Given the description of an element on the screen output the (x, y) to click on. 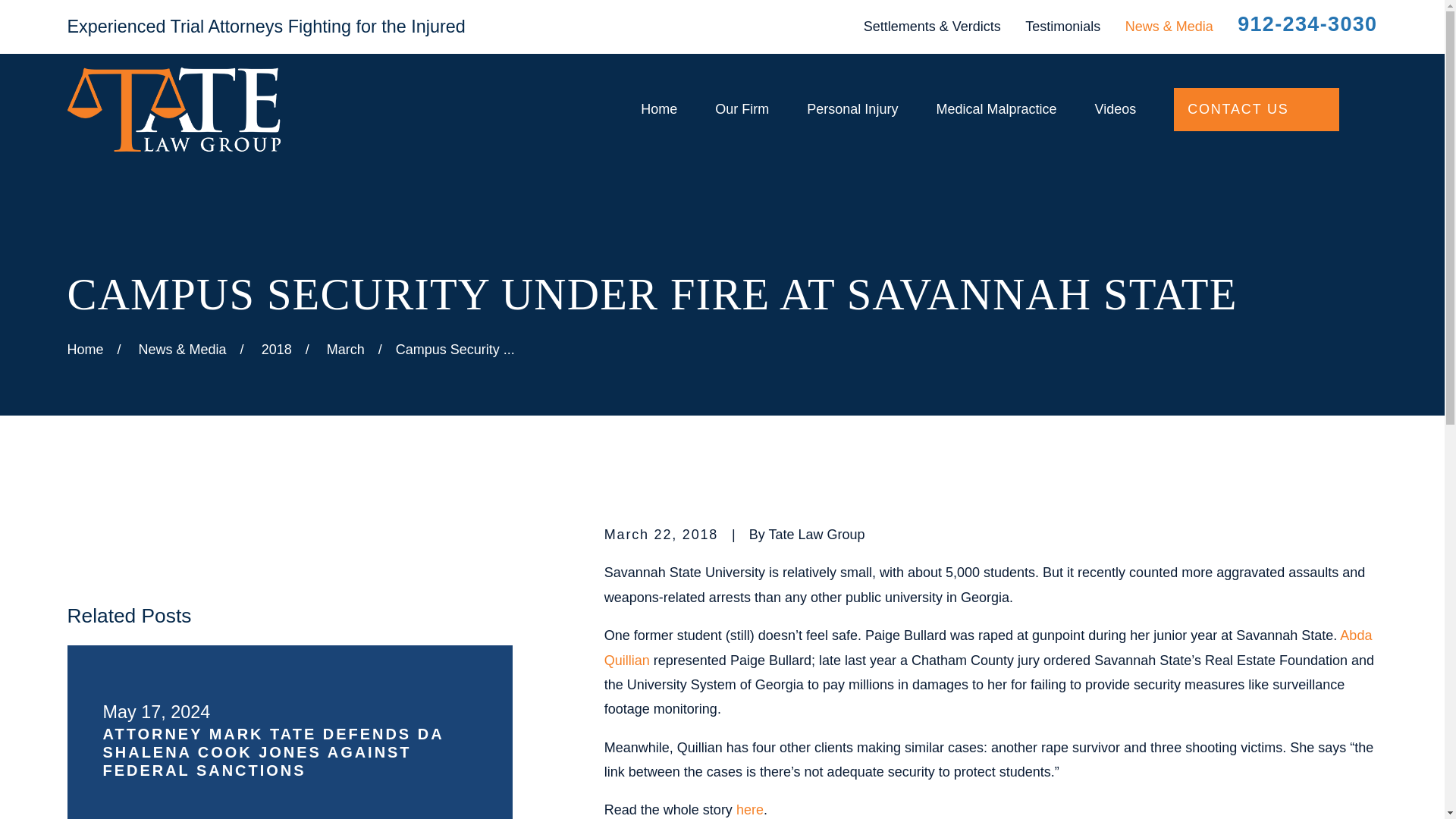
Our Firm (741, 109)
Home (172, 109)
Go Home (84, 349)
912-234-3030 (1307, 24)
Personal Injury (852, 109)
Testimonials (1062, 26)
